Given the description of an element on the screen output the (x, y) to click on. 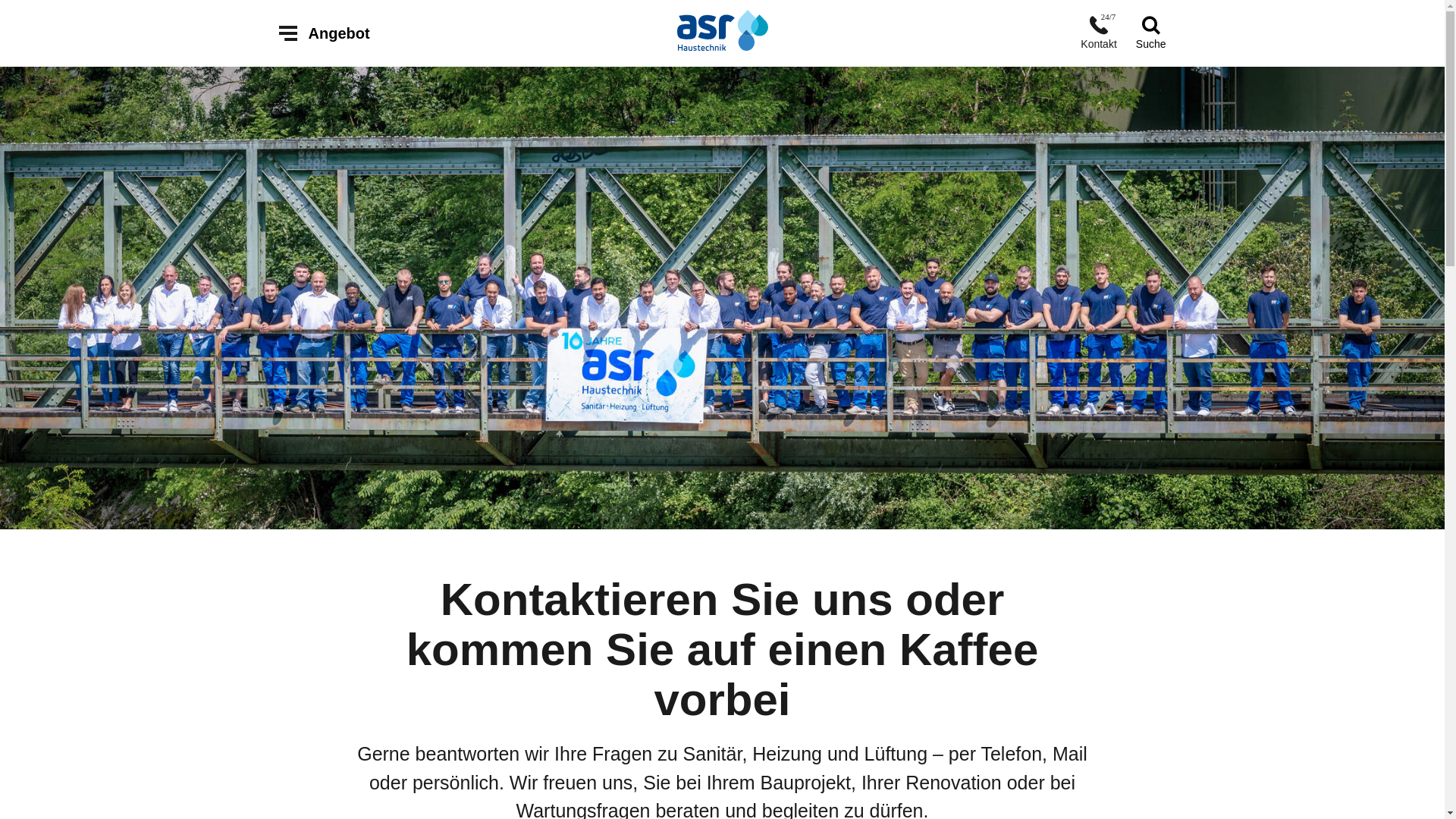
Kontakt Element type: text (1098, 32)
Suche Element type: text (1150, 32)
Angebot Element type: text (324, 32)
